Given the description of an element on the screen output the (x, y) to click on. 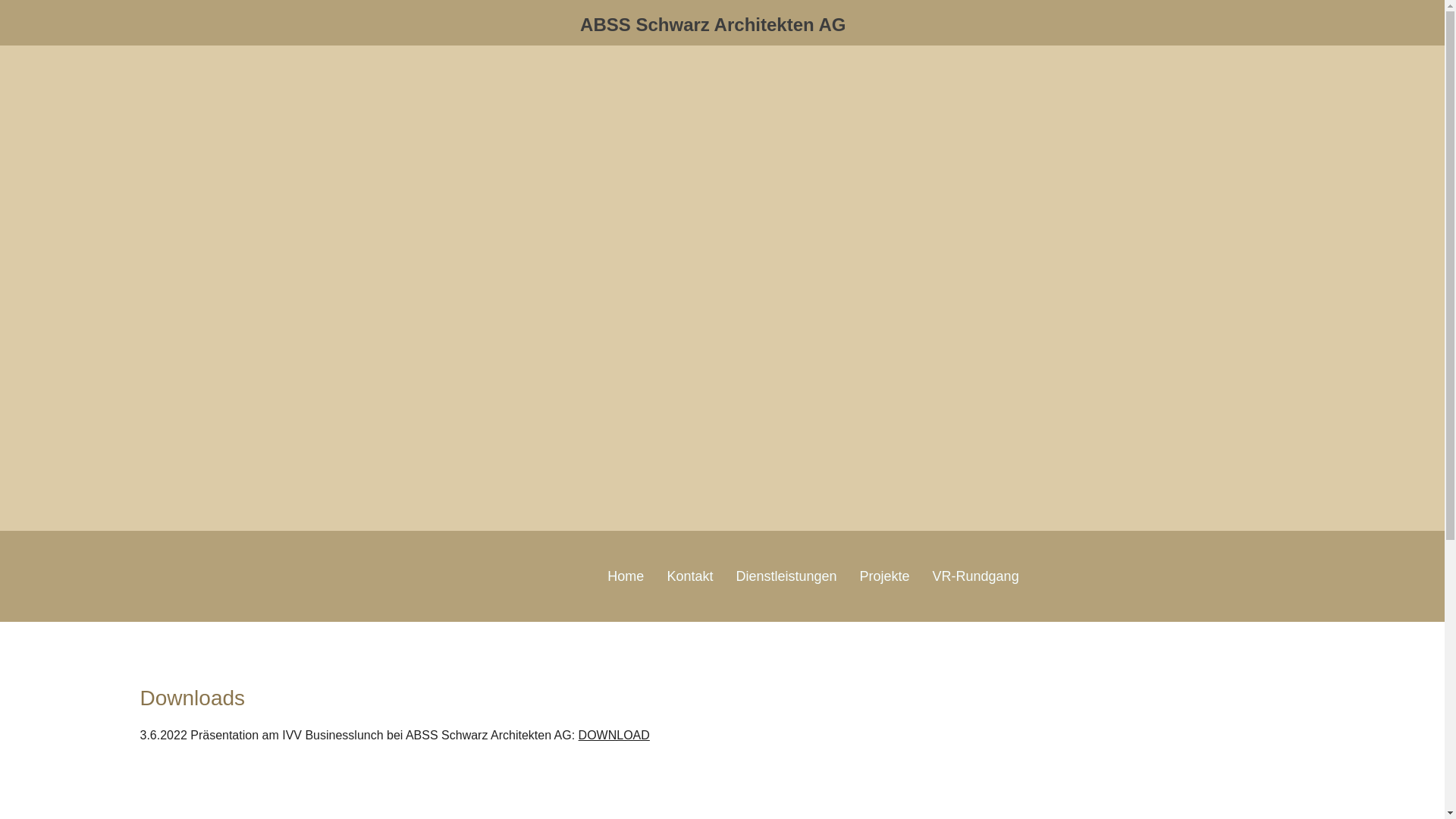
Kontakt Element type: text (689, 576)
DOWNLOAD Element type: text (613, 734)
Home Element type: text (625, 576)
Projekte Element type: text (884, 576)
VR-Rundgang Element type: text (975, 576)
Dienstleistungen Element type: text (786, 576)
